Given the description of an element on the screen output the (x, y) to click on. 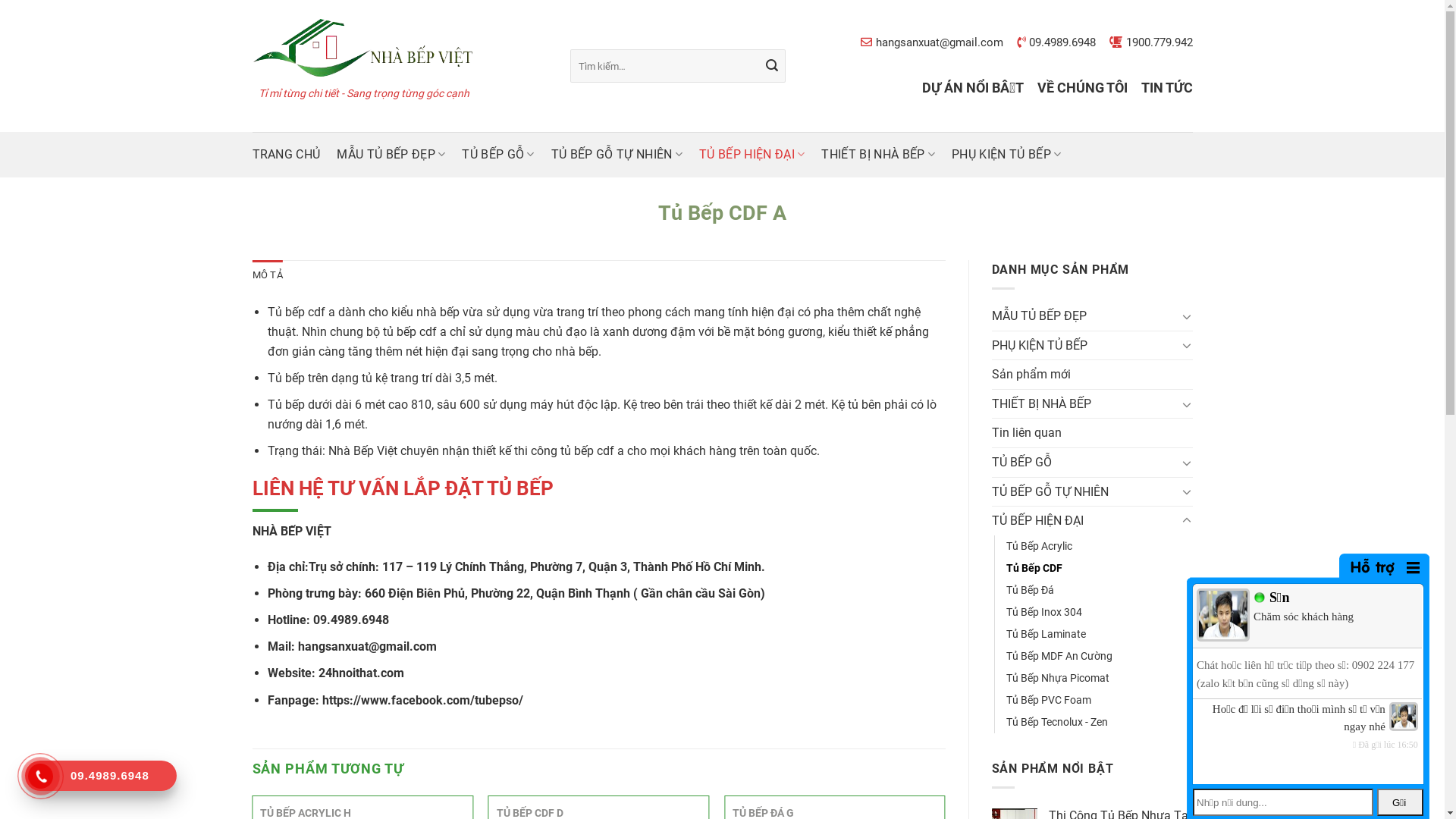
Skip to content Element type: text (0, 0)
09.4989.6948 Element type: text (100, 775)
https://www.facebook.com/tubepso/ Element type: text (422, 700)
24hnoithat.com Element type: text (361, 672)
